Given the description of an element on the screen output the (x, y) to click on. 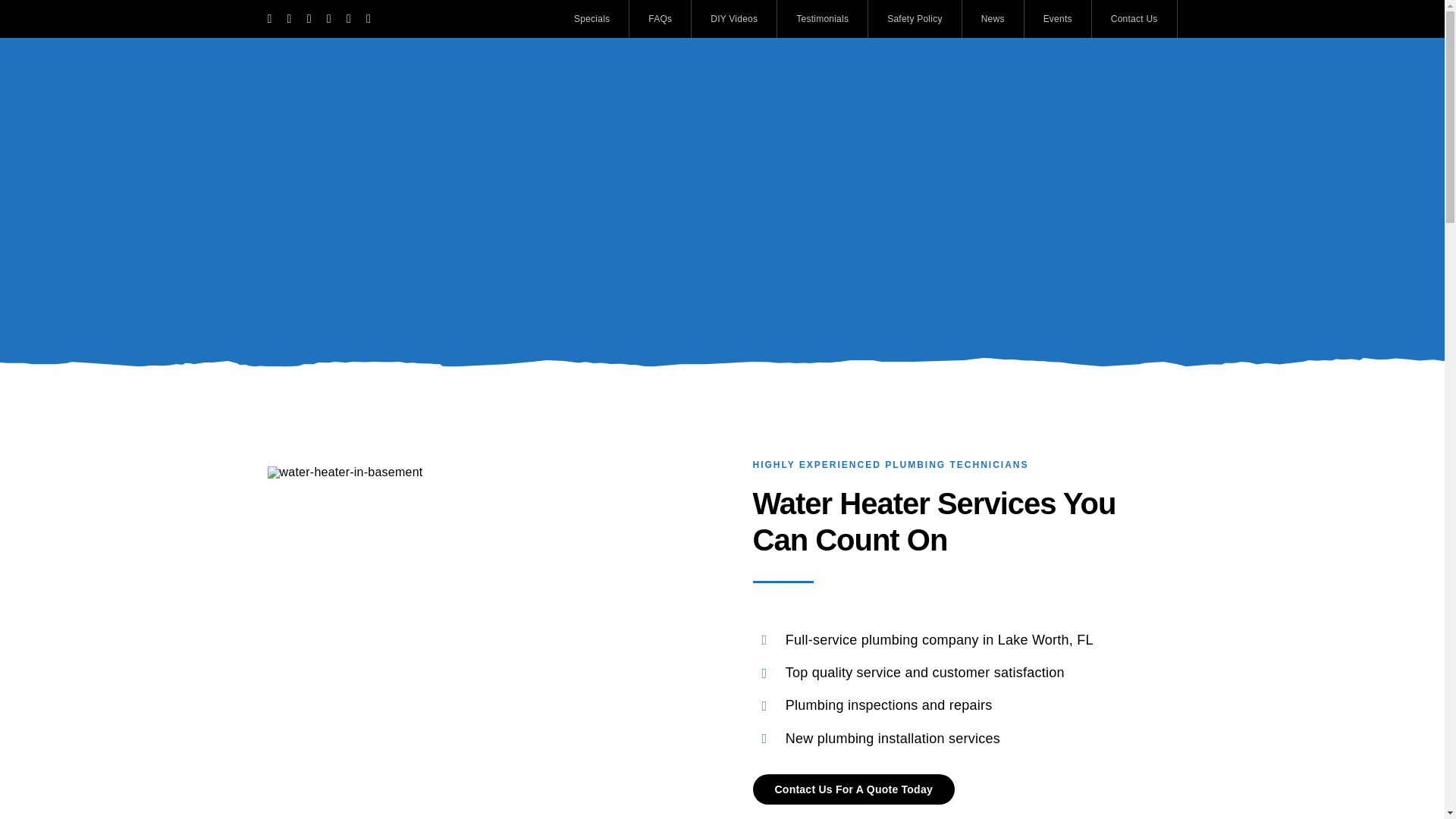
News (993, 18)
Safety Policy (913, 18)
Testimonials (822, 18)
Events (1058, 18)
DIY Videos (734, 18)
Specials (591, 18)
FAQs (659, 18)
water-heater-in-basement (344, 472)
Contact Us (1134, 18)
